Given the description of an element on the screen output the (x, y) to click on. 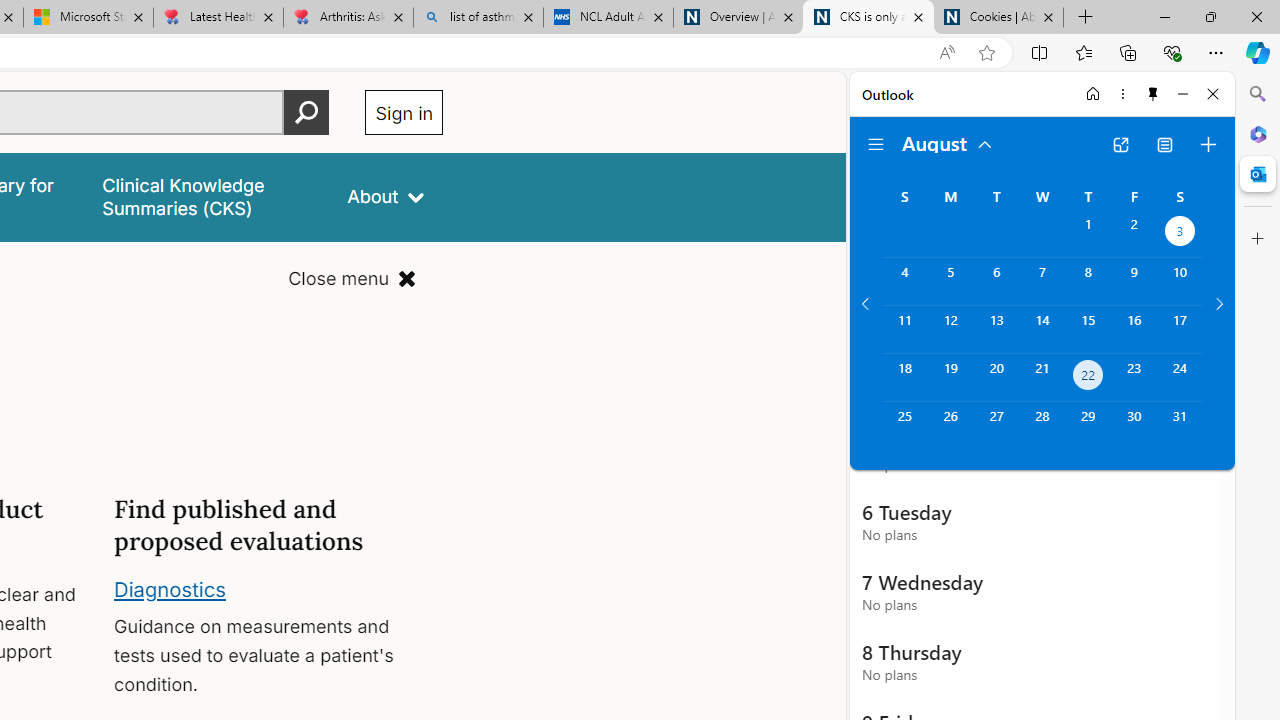
Tuesday, August 20, 2024.  (996, 377)
